Given the description of an element on the screen output the (x, y) to click on. 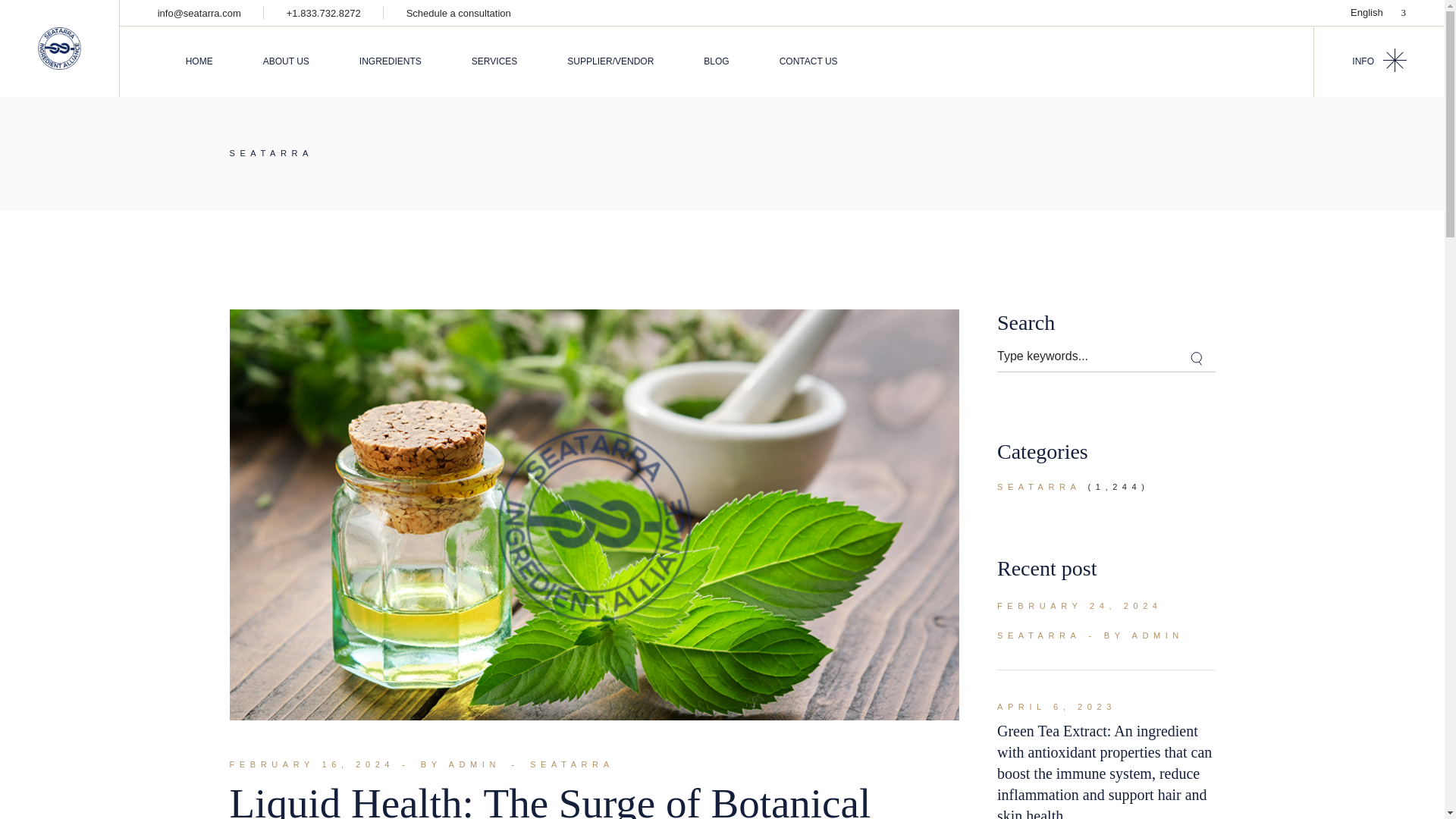
INFO (1379, 61)
Schedule a consultation (458, 12)
Title Text:  (1079, 606)
English (1377, 12)
Title Text:  (1056, 707)
